Given the description of an element on the screen output the (x, y) to click on. 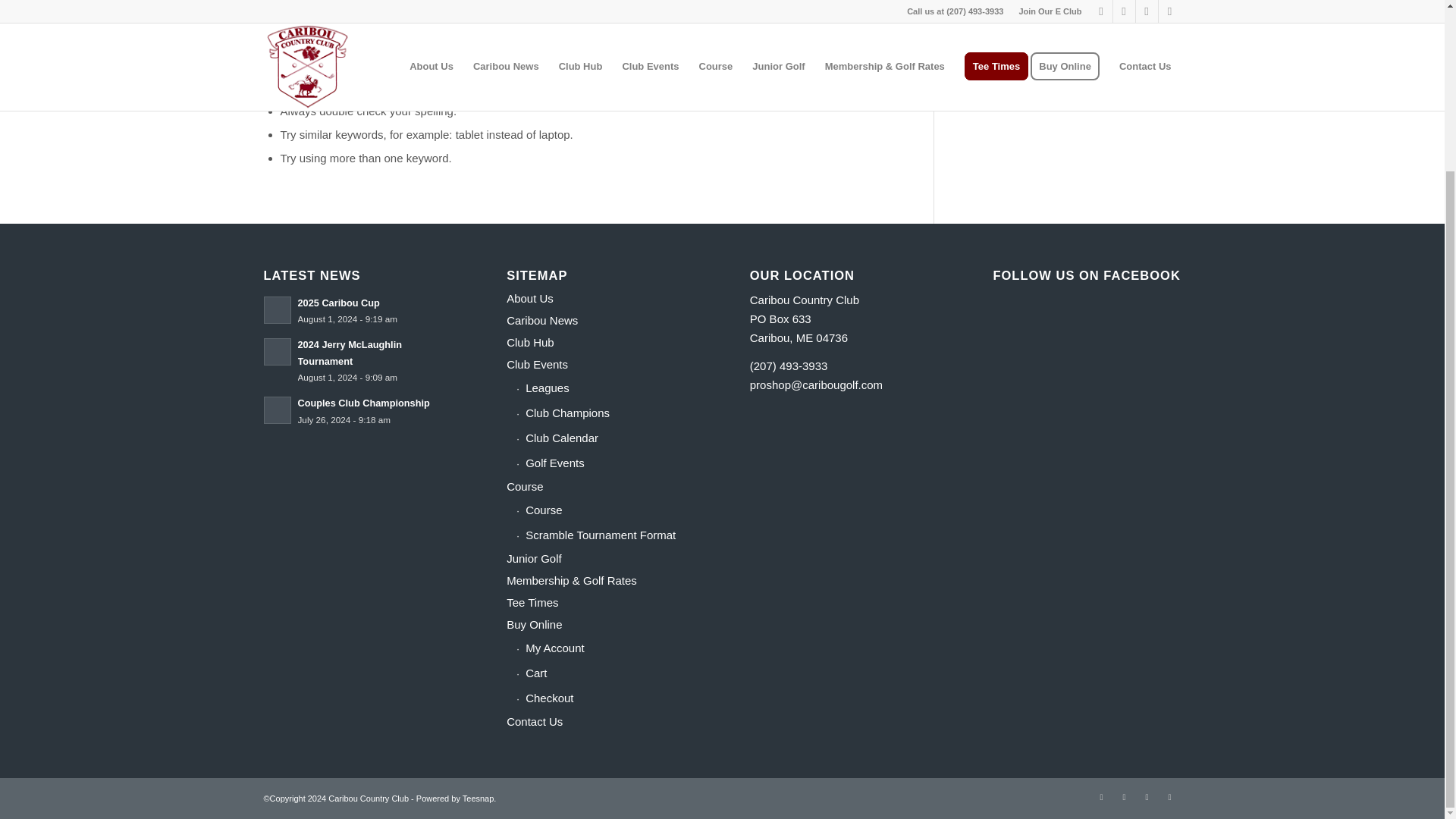
About Us (600, 299)
2024 Jerry McLaughlin Tournament (349, 352)
Read: Couples Club Championship (363, 402)
Read: 2025 Caribou Cup (277, 309)
Leagues (605, 388)
Couples Club Championship (363, 402)
Caribou News (600, 321)
Read: 2024 Jerry McLaughlin Tournament (349, 352)
Instagram (1146, 796)
Read: 2025 Caribou Cup (337, 302)
Club Events (600, 364)
Read: 2024 Jerry McLaughlin Tournament (277, 351)
Facebook (1124, 796)
2025 Caribou Cup (337, 302)
Read: Couples Club Championship (277, 410)
